Given the description of an element on the screen output the (x, y) to click on. 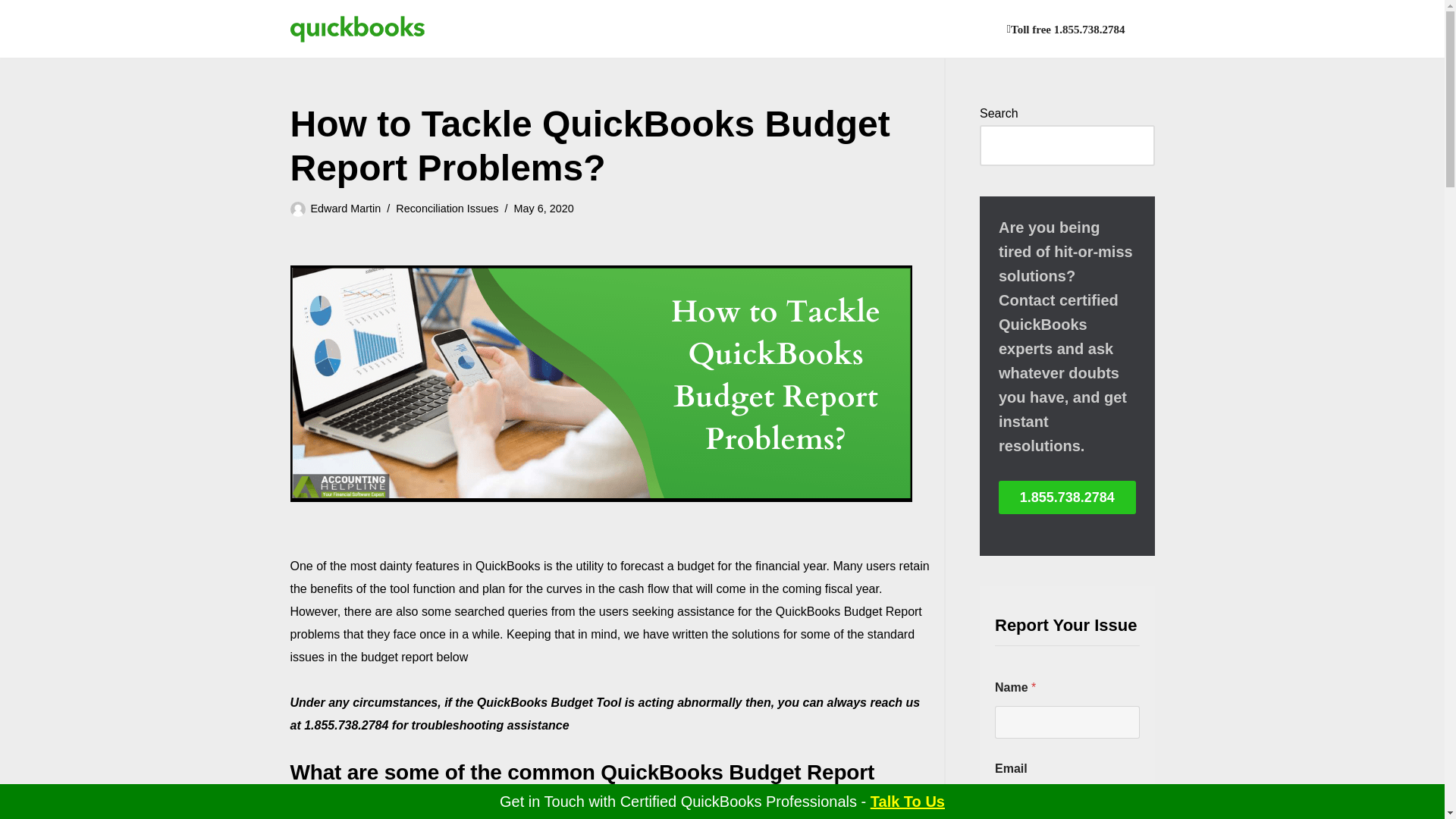
Edward Martin (346, 208)
Reconciliation Issues (446, 208)
1.855.738.2784 (684, 801)
1.855.738.2784 (1066, 497)
1.855.738.2784 (1066, 497)
Toll free 1.855.738.2784 (1066, 28)
Posts by Edward Martin (346, 208)
Skip to content (11, 31)
